Given the description of an element on the screen output the (x, y) to click on. 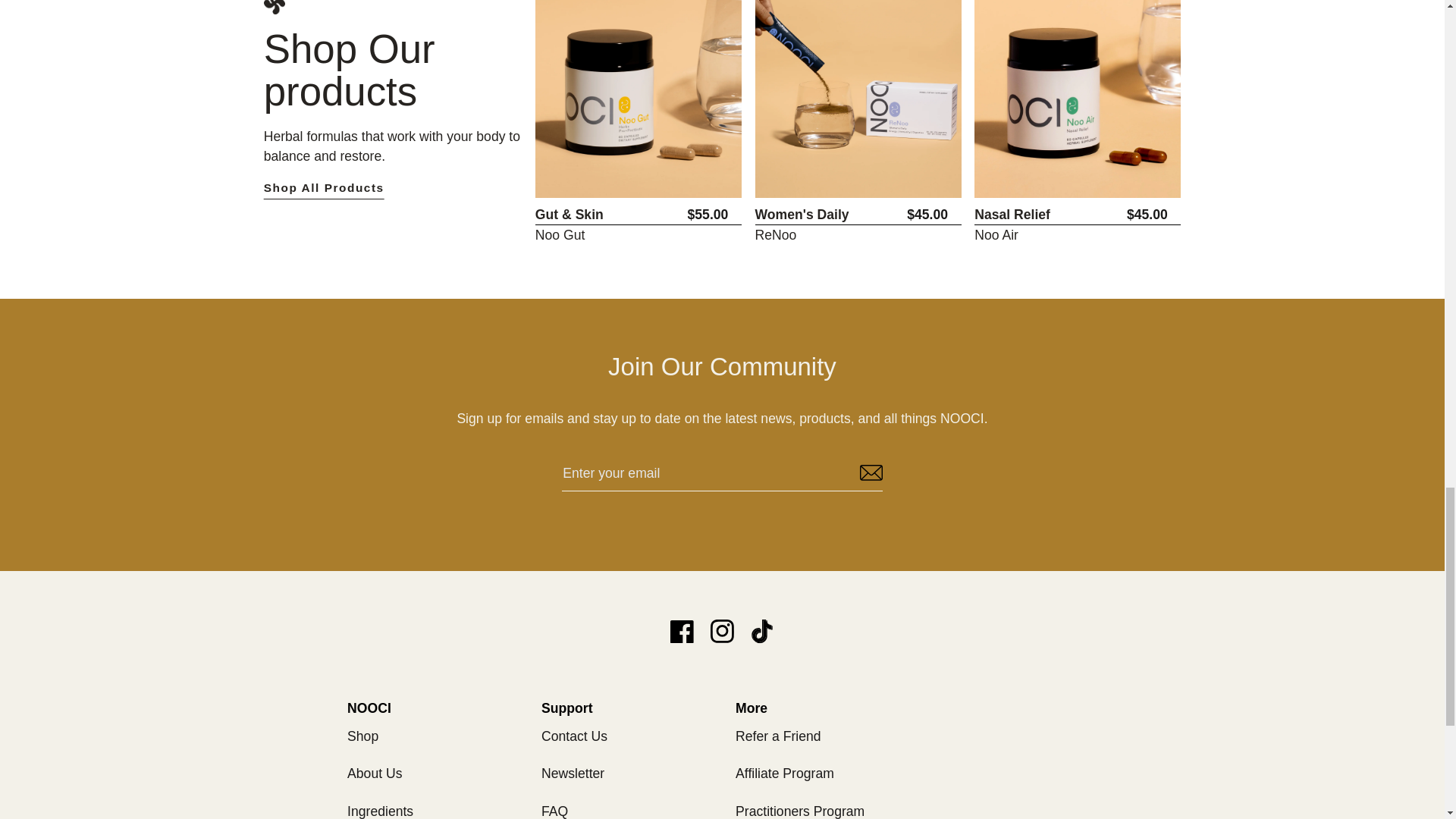
Shop All Products (392, 187)
